Given the description of an element on the screen output the (x, y) to click on. 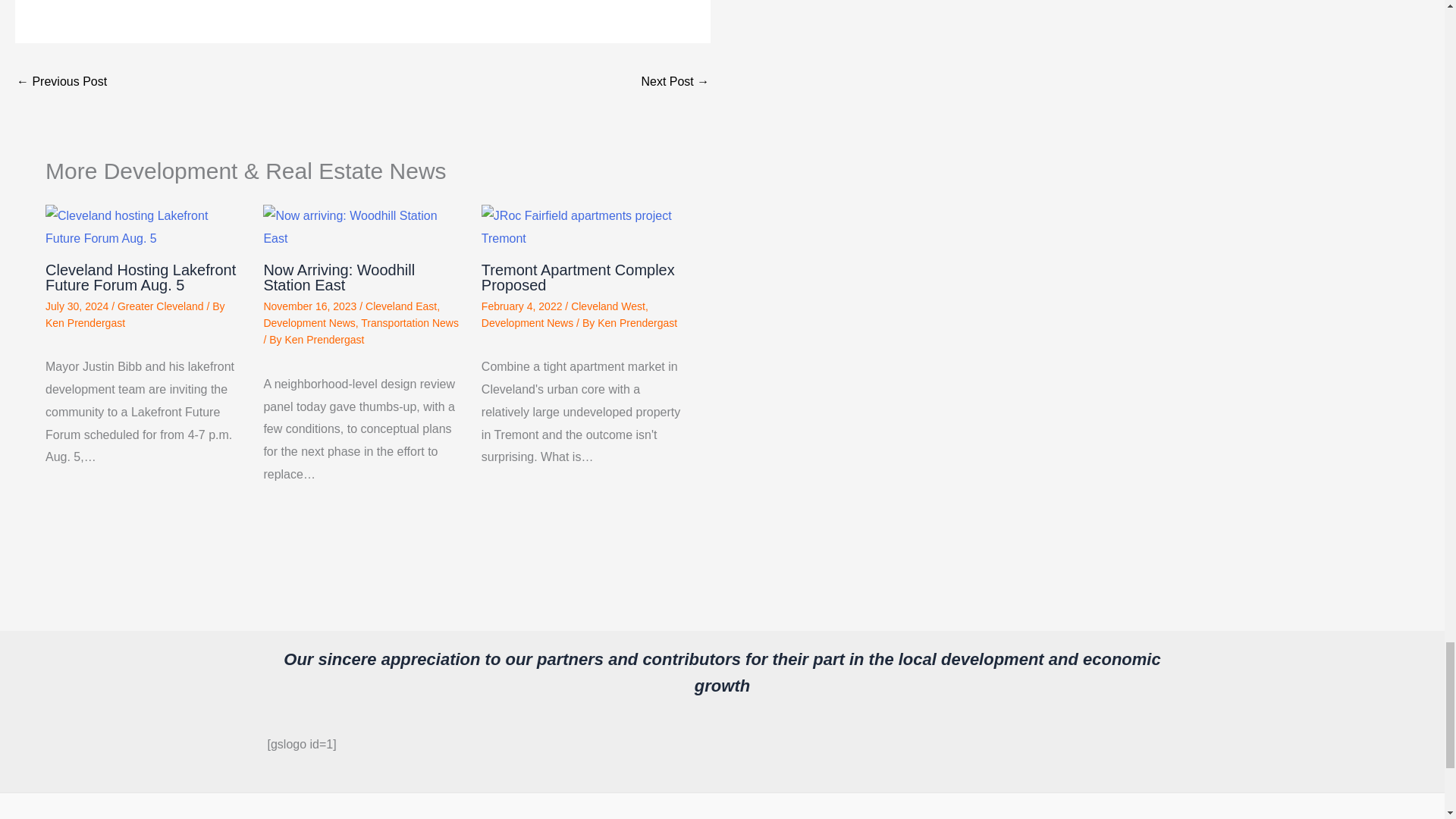
A Christmas Story House, campus for sale (61, 82)
View all posts by Ken Prendergast (85, 322)
CSU releases campus master plan (674, 82)
View all posts by Ken Prendergast (636, 322)
View all posts by Ken Prendergast (323, 339)
